Given the description of an element on the screen output the (x, y) to click on. 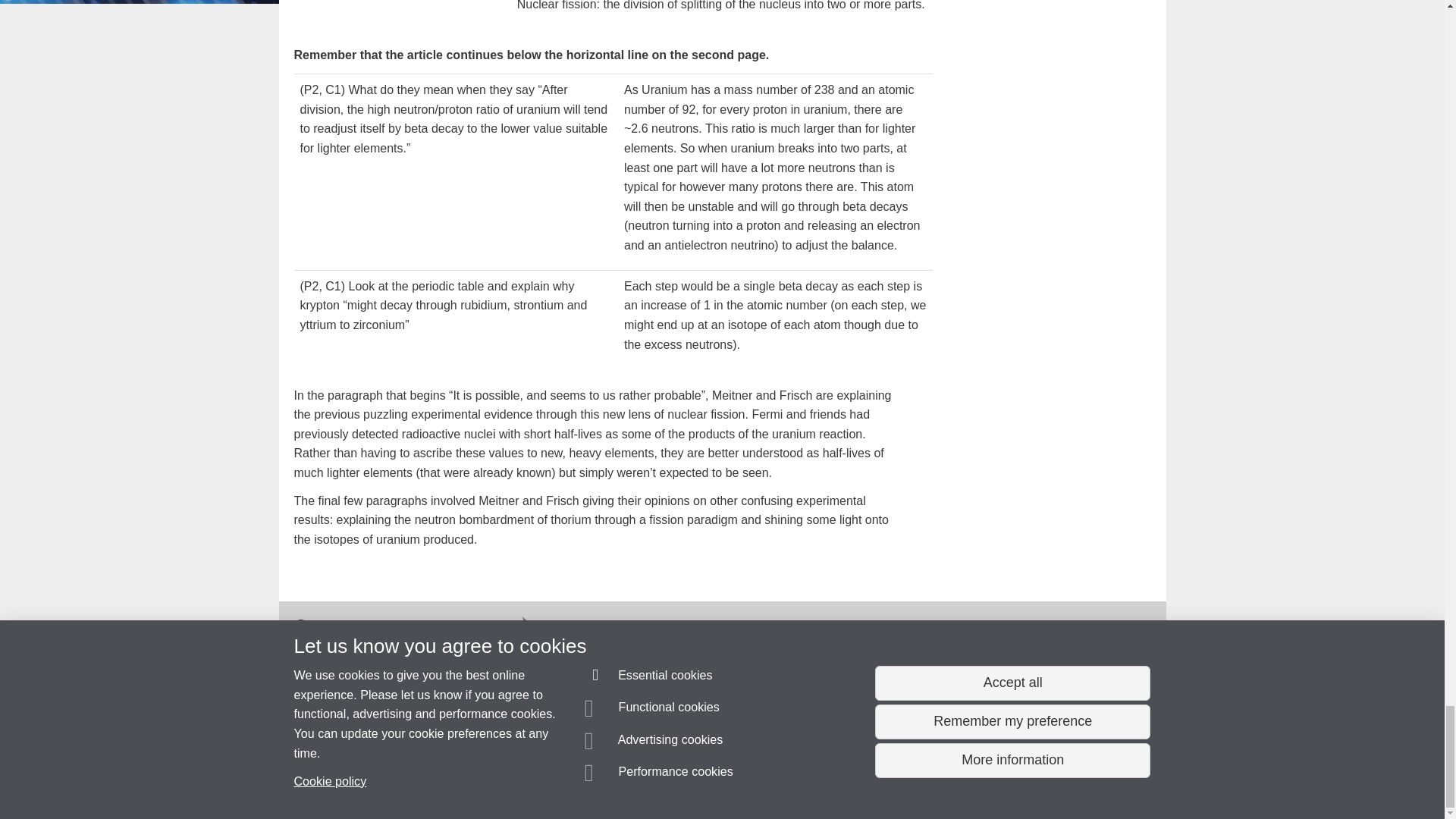
Terms of use (708, 780)
Privacy notice (673, 780)
More information about SiteBuilder (365, 780)
Copyright Statement (514, 780)
Information about cookies (467, 780)
